Given the description of an element on the screen output the (x, y) to click on. 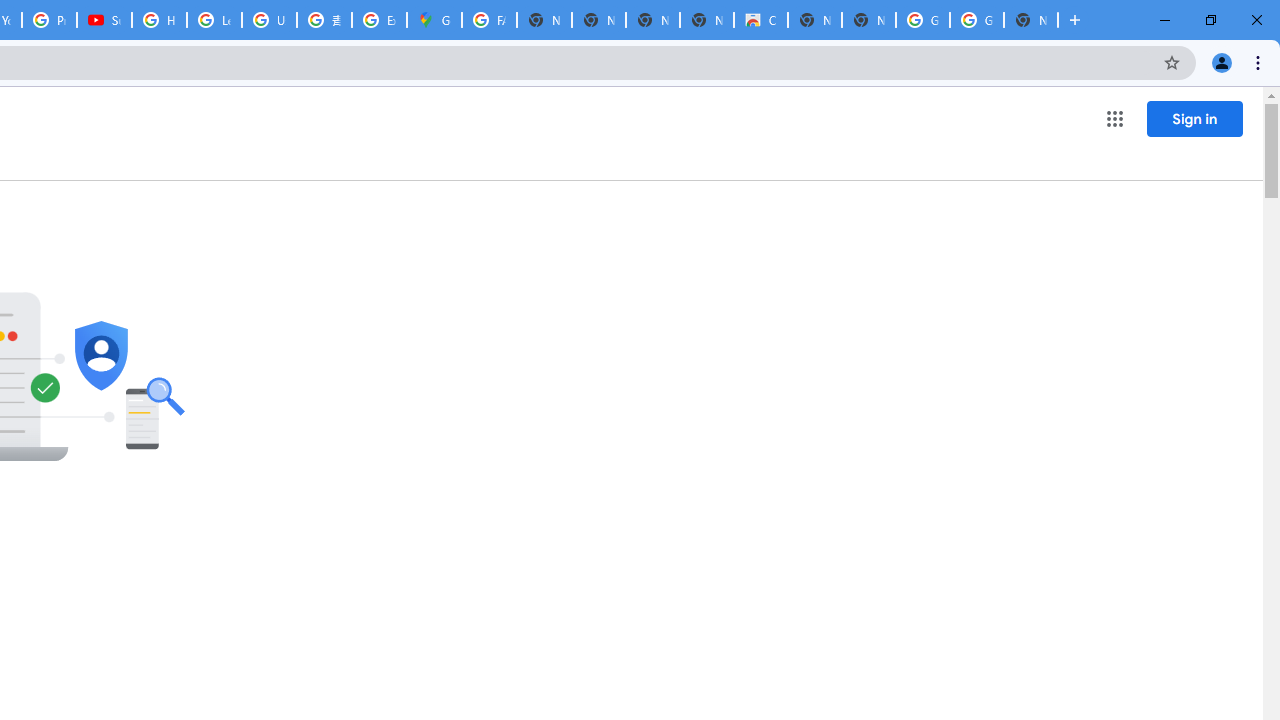
New Tab (1030, 20)
Google Images (976, 20)
How Chrome protects your passwords - Google Chrome Help (158, 20)
Google Images (922, 20)
Explore new street-level details - Google Maps Help (379, 20)
